Given the description of an element on the screen output the (x, y) to click on. 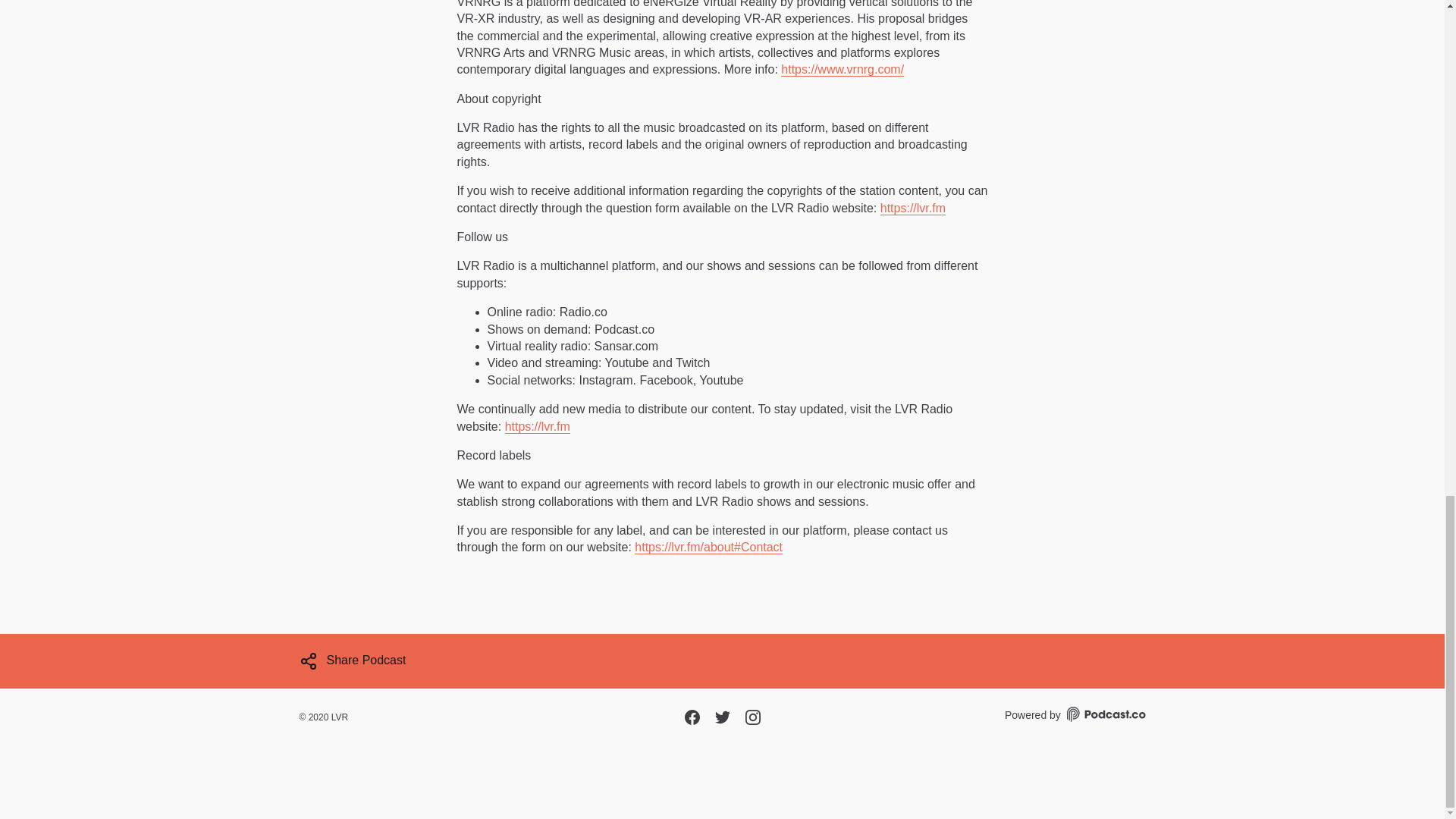
Start your podcast today with Podcast.co (1104, 716)
Share Podcast (352, 660)
